Given the description of an element on the screen output the (x, y) to click on. 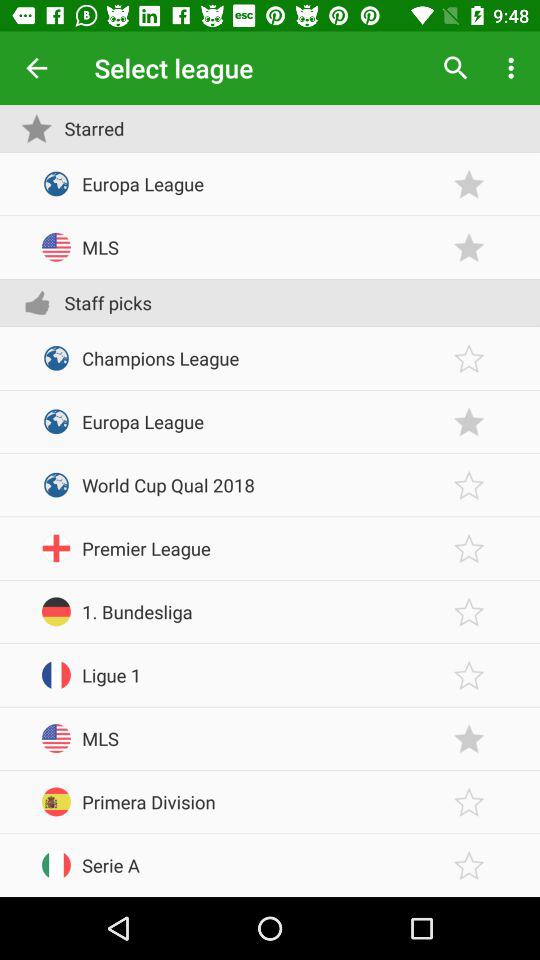
would favorite primera division (469, 801)
